Given the description of an element on the screen output the (x, y) to click on. 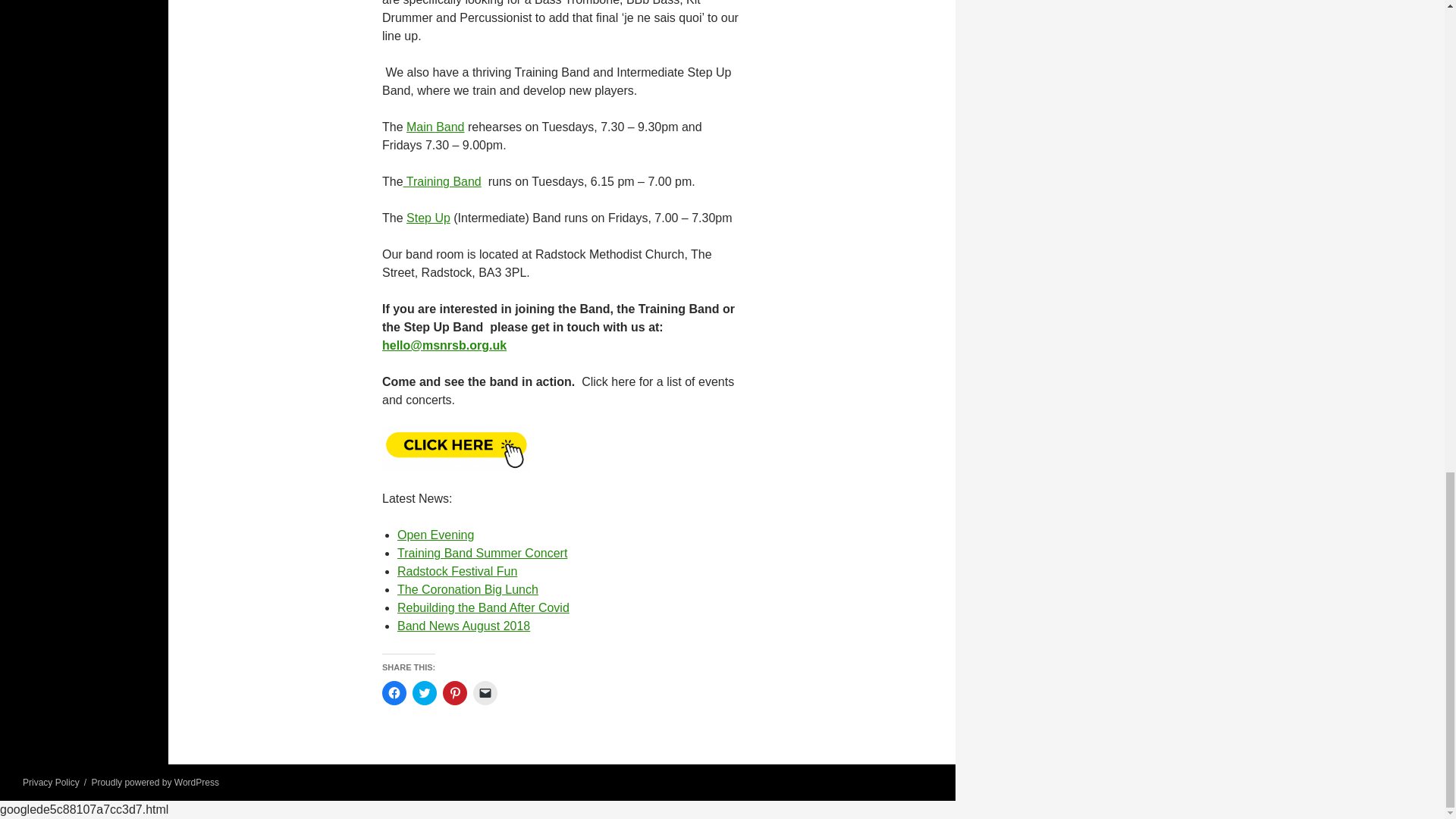
Band News August 2018 (463, 625)
Click to share on Facebook (393, 692)
Calendar (456, 448)
Click to email a link to a friend (485, 692)
The Coronation Big Lunch (467, 589)
Training Band Summer Concert (482, 553)
Rebuilding the Band After Covid (483, 607)
Radstock Festival Fun (456, 571)
The Coronation Big Lunch (467, 589)
Open Evening (435, 534)
